Given the description of an element on the screen output the (x, y) to click on. 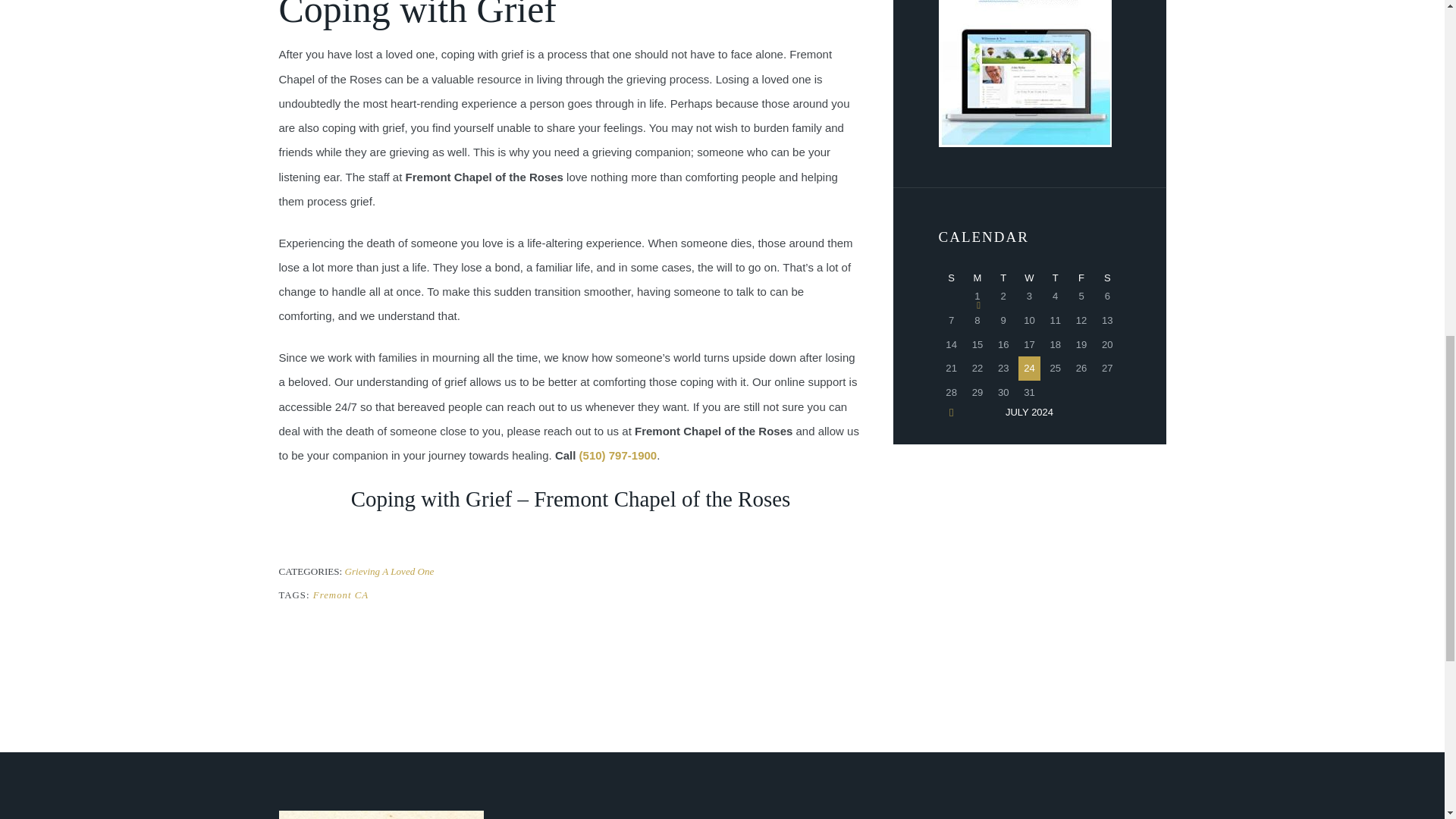
Preparing For a Funeral (977, 296)
Thursday (1055, 277)
Sunday (951, 277)
Saturday (1106, 277)
Monday (976, 277)
View posts for July 2024 (1029, 411)
View posts for April 2024 (951, 412)
Tuesday (1003, 277)
Wednesday (1029, 277)
Friday (1081, 277)
